Given the description of an element on the screen output the (x, y) to click on. 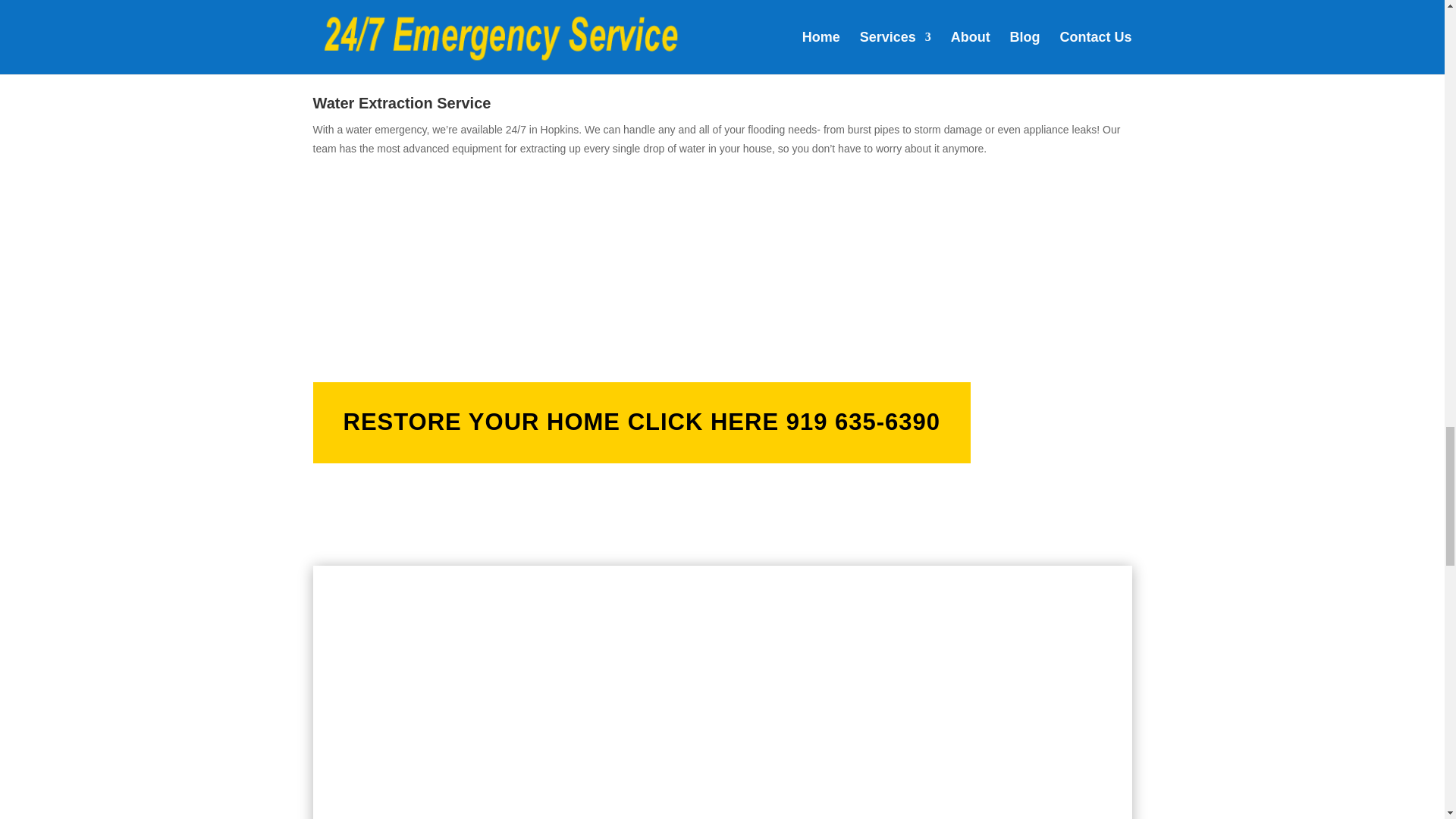
Water Extraction Wilmington NC (426, 234)
YouTube video player (933, 702)
Mold Inspection Wilmington NC (426, 11)
RESTORE YOUR HOME CLICK HERE 919 635-6390 (642, 422)
YouTube video player (511, 702)
